Given the description of an element on the screen output the (x, y) to click on. 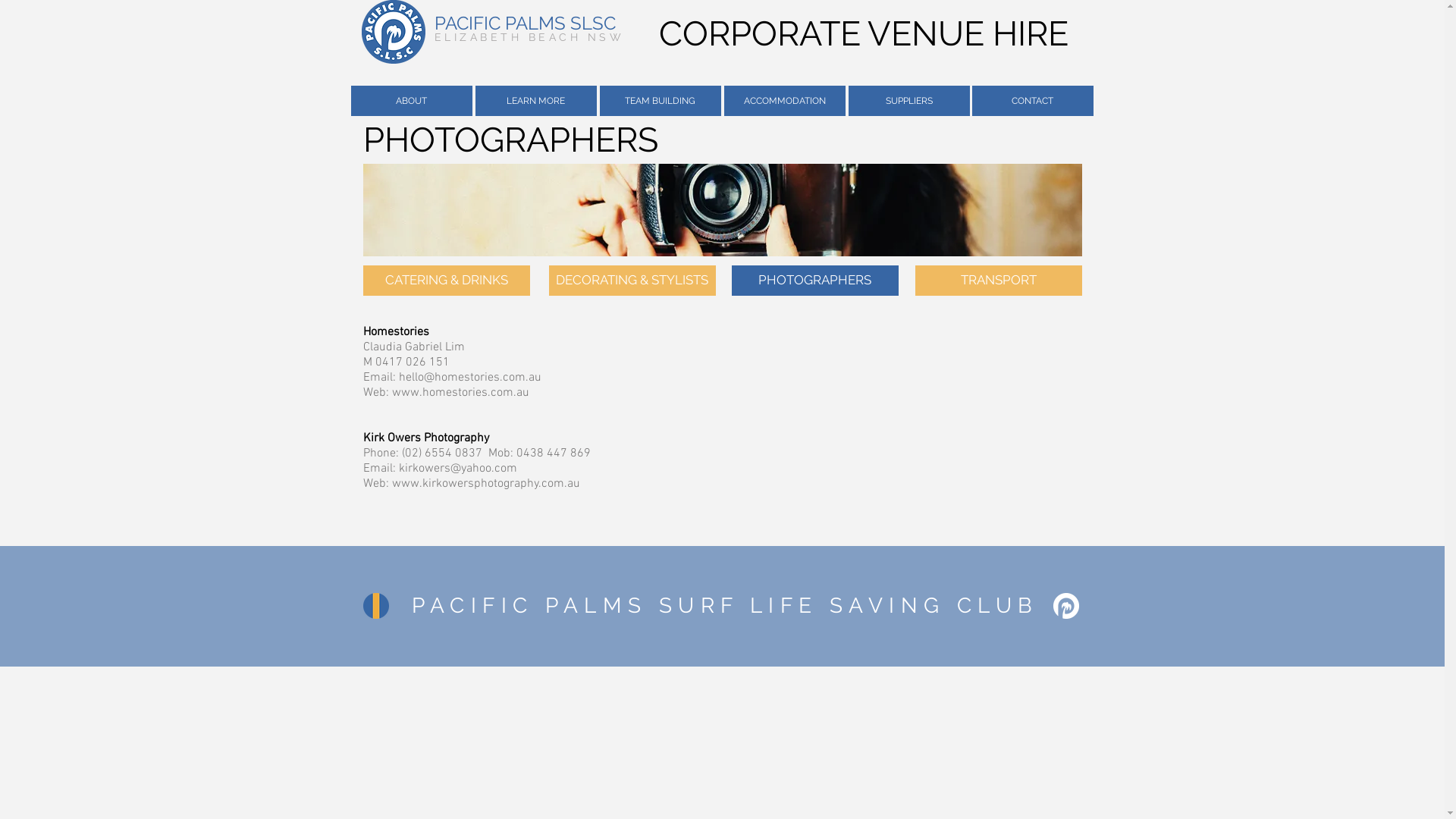
ABOUT Element type: text (410, 100)
kirkowers@yahoo.com Element type: text (457, 468)
LEARN MORE Element type: text (535, 100)
SUPPLIERS Element type: text (908, 100)
w Element type: text (395, 392)
CONTACT Element type: text (1032, 100)
TRANSPORT Element type: text (997, 280)
www.kirkowersphotography.com.au Element type: text (485, 483)
ACCOMMODATION Element type: text (783, 100)
PHOTOGRAPHERS Element type: text (814, 280)
TEAM BUILDING Element type: text (659, 100)
CATERING & DRINKS Element type: text (445, 280)
DECORATING & STYLISTS Element type: text (632, 280)
